Given the description of an element on the screen output the (x, y) to click on. 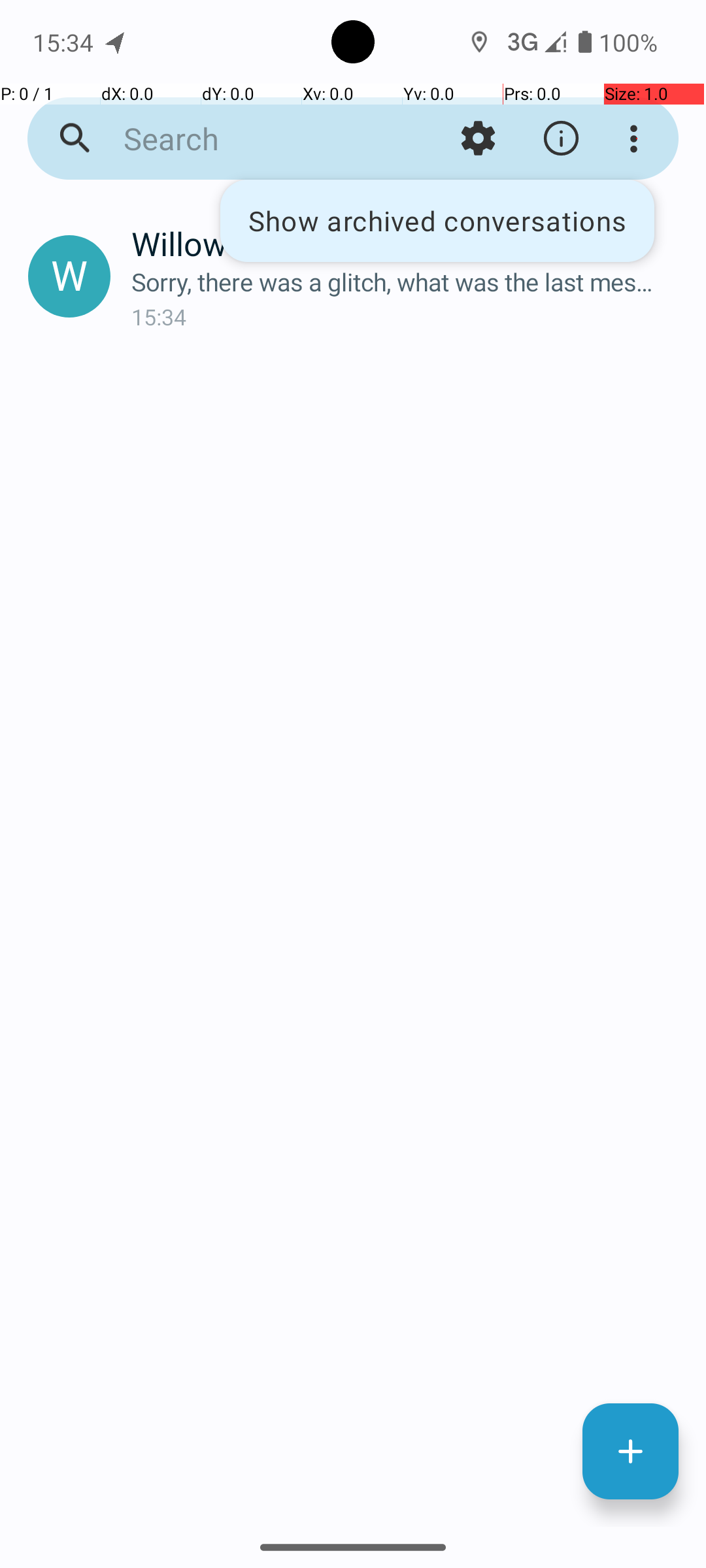
Show archived conversations Element type: android.widget.TextView (436, 220)
